Given the description of an element on the screen output the (x, y) to click on. 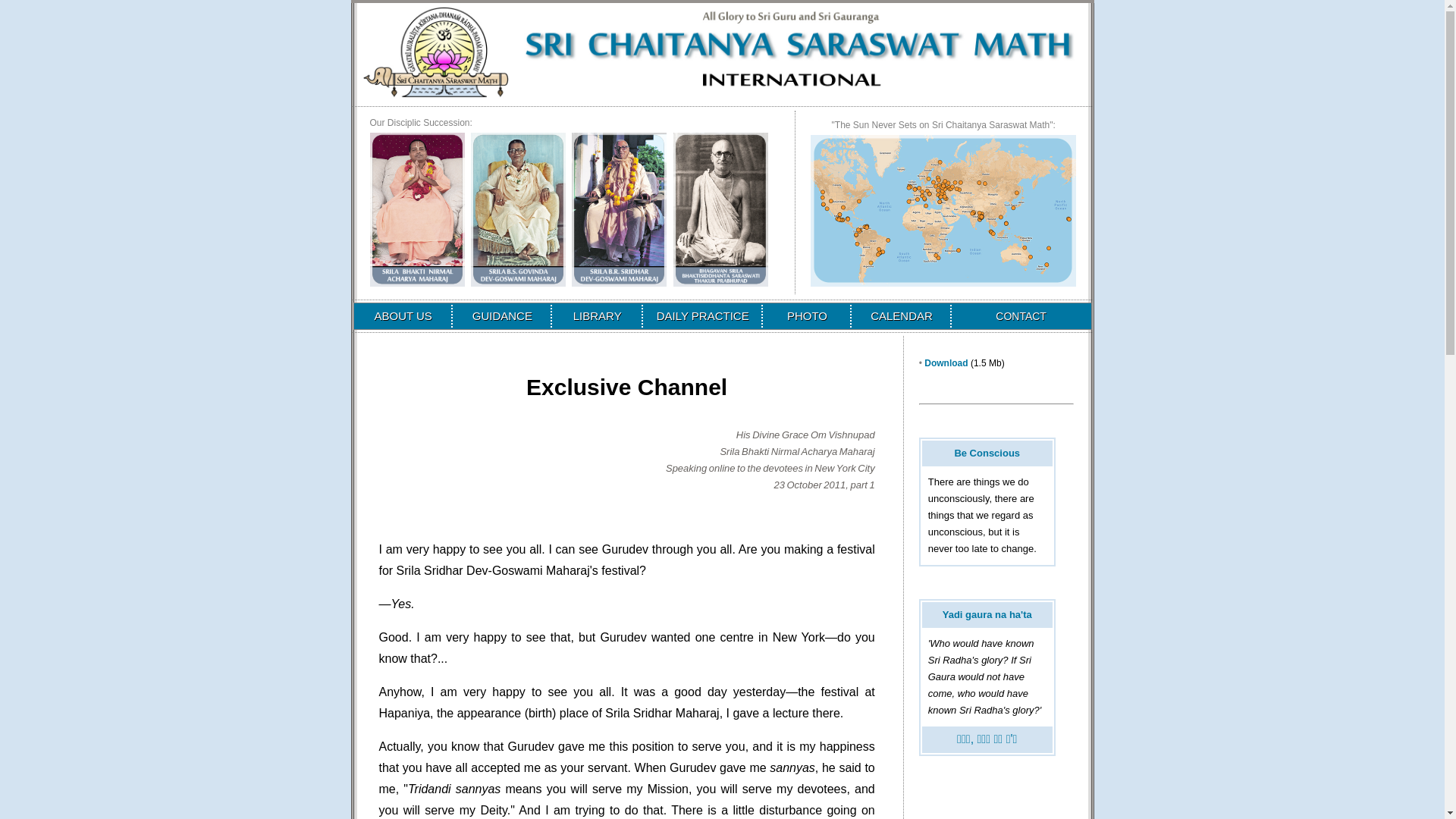
GUIDANCE (501, 315)
ABOUT US (402, 315)
LIBRARY (597, 315)
